Given the description of an element on the screen output the (x, y) to click on. 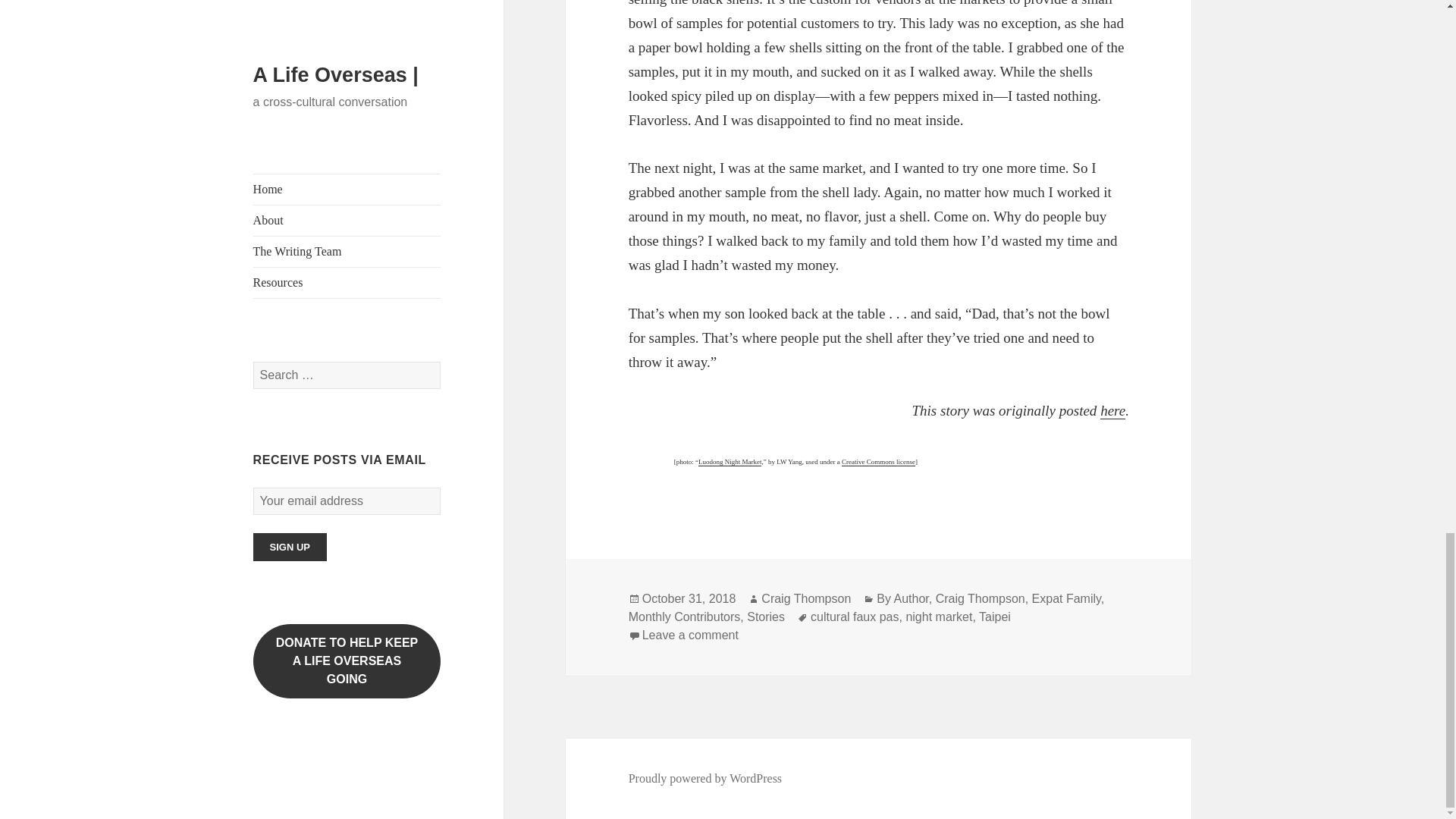
night market (938, 617)
Craig Thompson (980, 599)
Creative Commons license (878, 461)
Taipei (994, 617)
Proudly powered by WordPress (704, 778)
By Author (902, 599)
Monthly Contributors (684, 617)
October 31, 2018 (689, 599)
Expat Family (1066, 599)
cultural faux pas (854, 617)
